Given the description of an element on the screen output the (x, y) to click on. 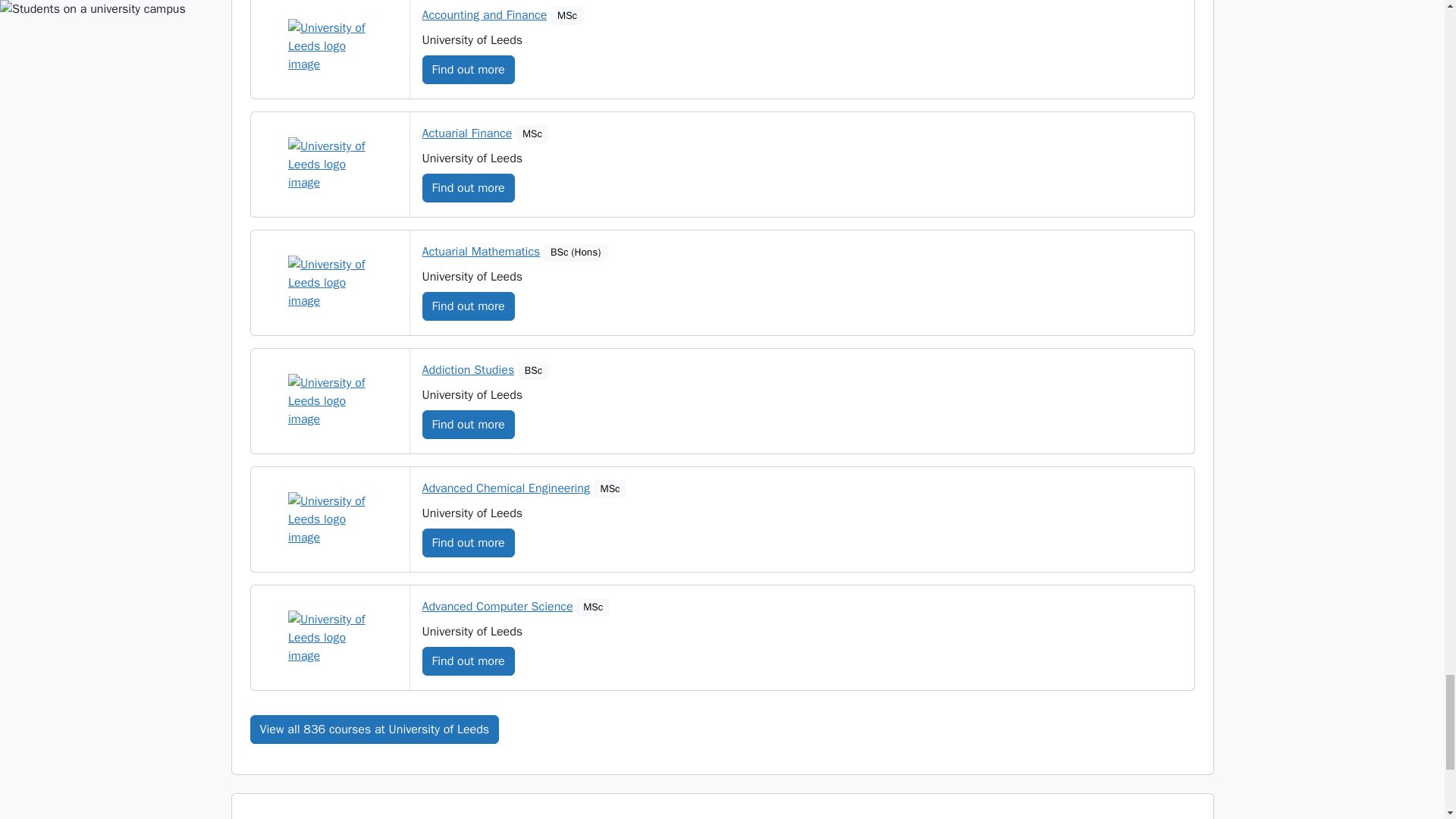
University of Leeds (329, 45)
